Given the description of an element on the screen output the (x, y) to click on. 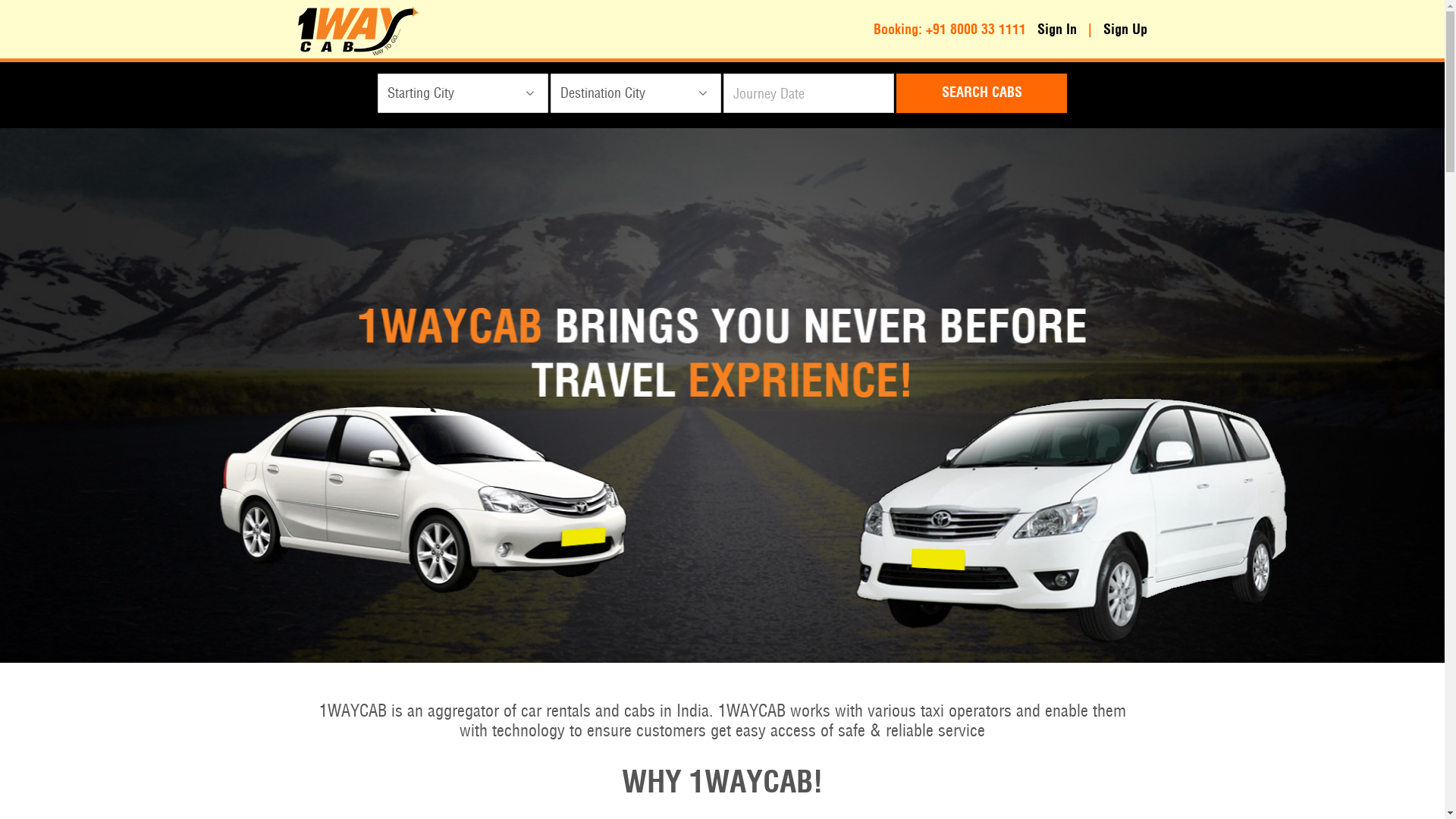
Sign Up Element type: text (1124, 29)
SEARCH CABS Element type: text (981, 92)
Sign In Element type: text (1056, 29)
